Given the description of an element on the screen output the (x, y) to click on. 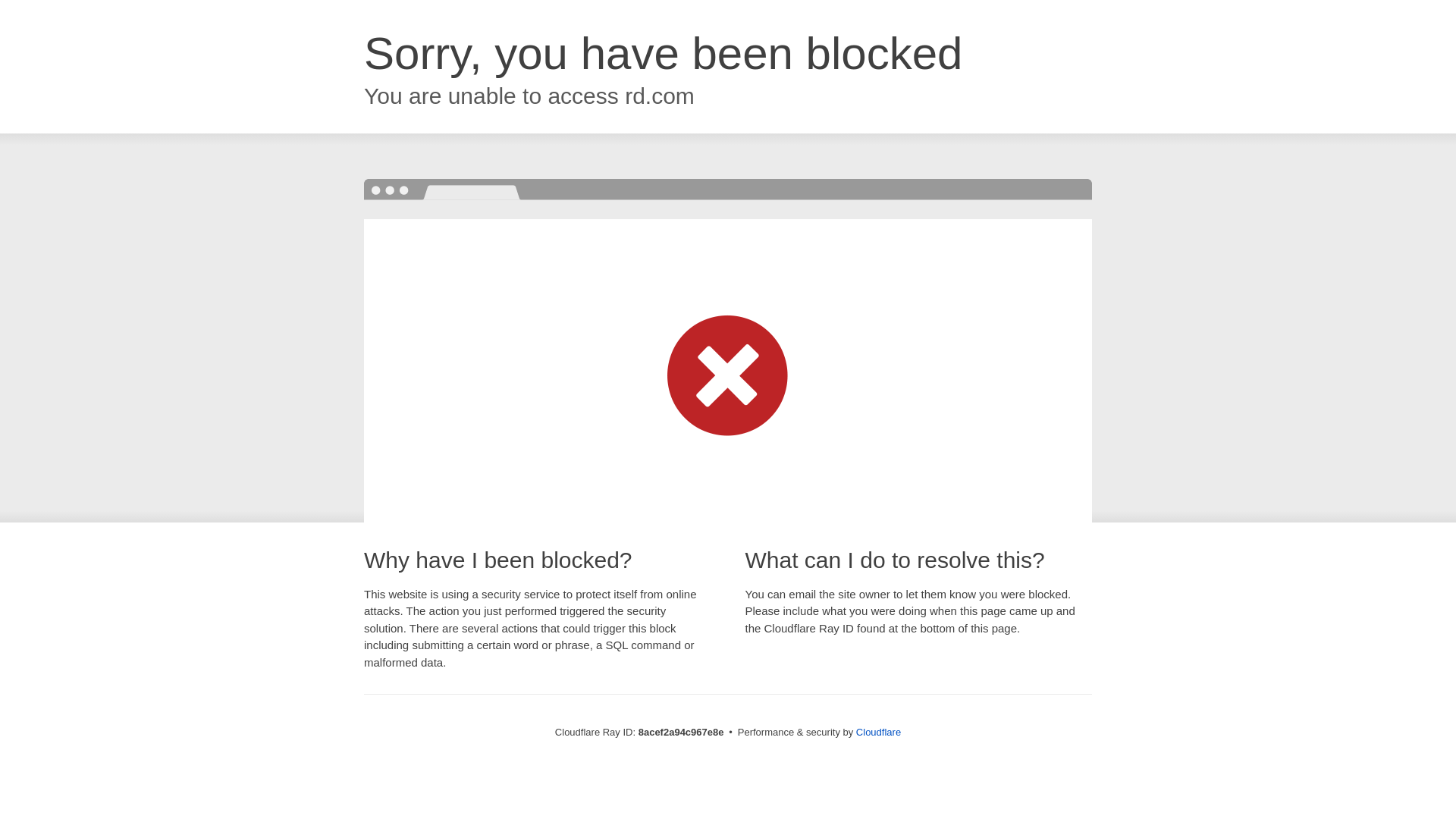
Cloudflare (878, 731)
